Given the description of an element on the screen output the (x, y) to click on. 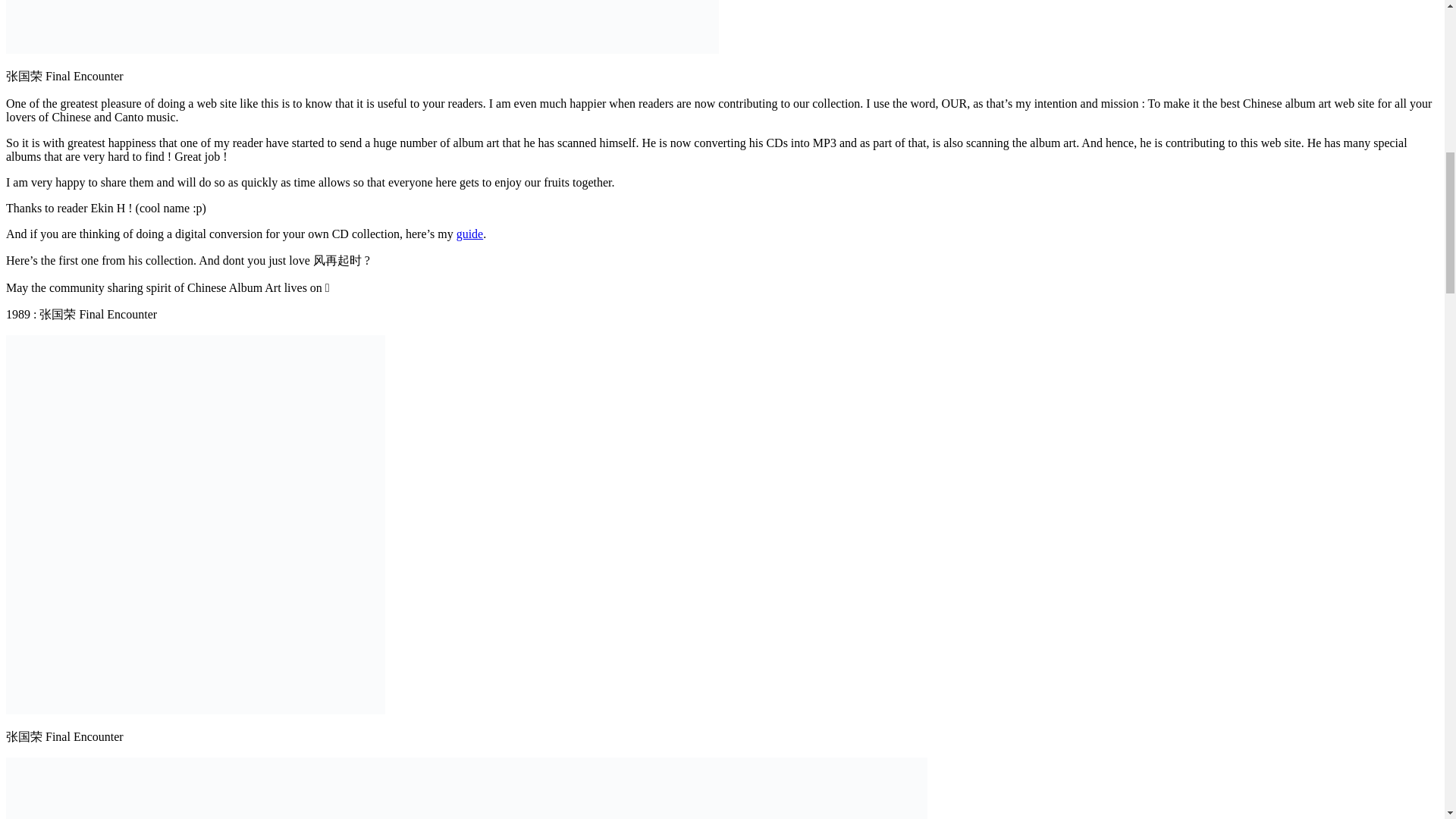
guide (470, 233)
